Given the description of an element on the screen output the (x, y) to click on. 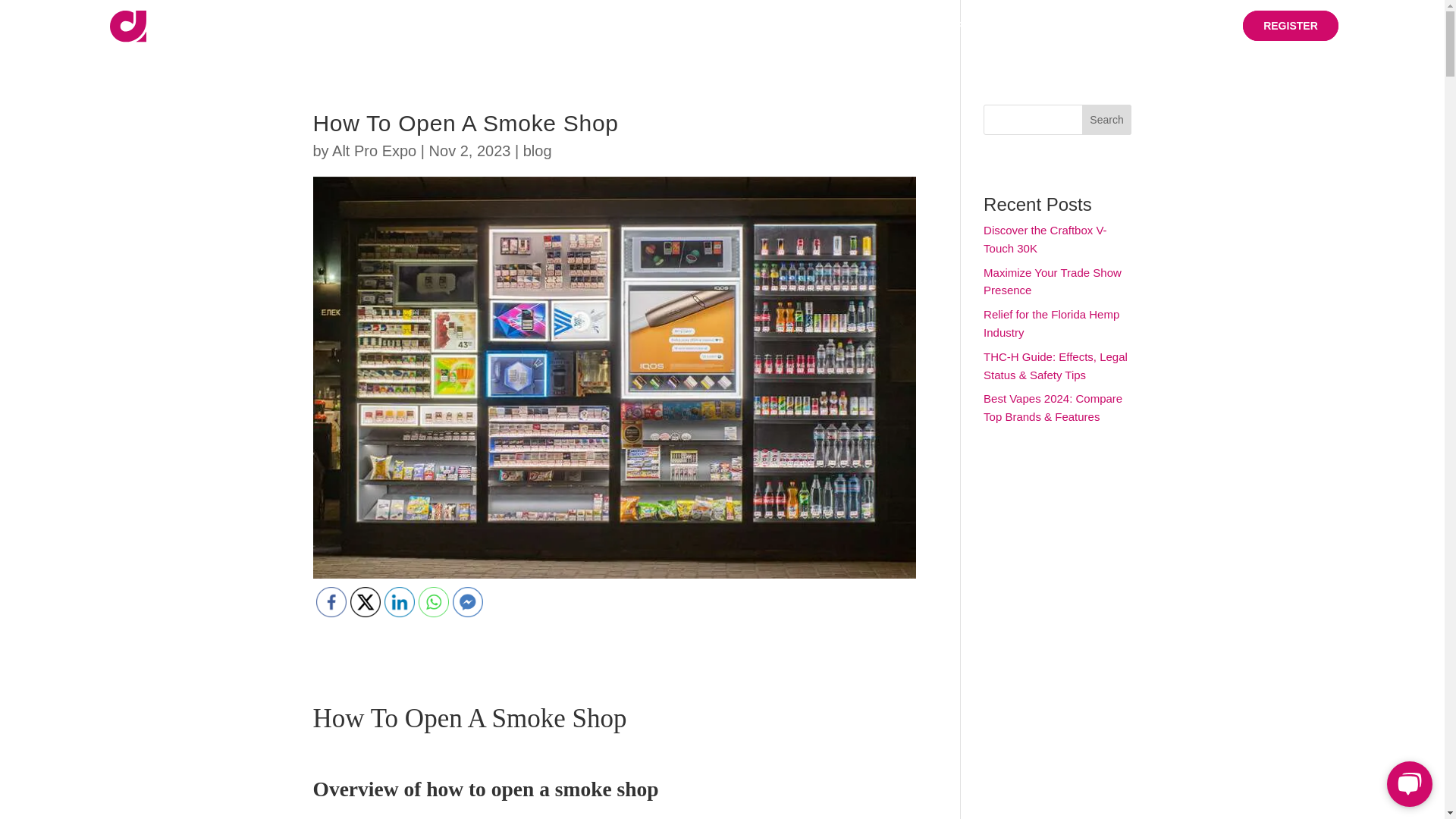
MEET THE BUYER (705, 31)
ATTENDEES (829, 23)
LinkedIn (398, 602)
OUR SHOWS (579, 23)
Facebook (330, 602)
Twitter (365, 602)
EXHIBITORS (939, 23)
Posts by Alt Pro Expo (373, 150)
WhatsApp (433, 602)
Search (1106, 119)
